Given the description of an element on the screen output the (x, y) to click on. 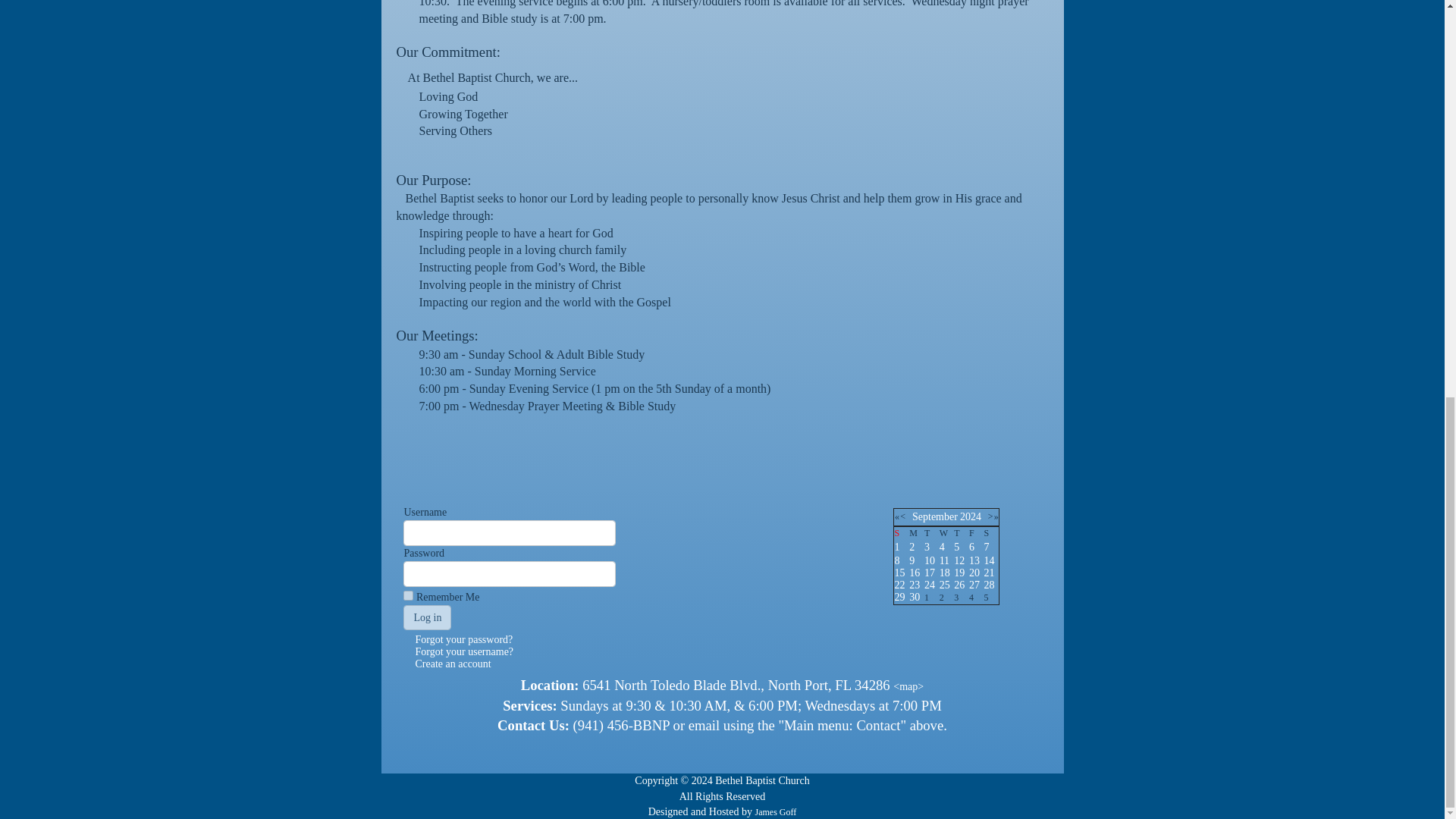
12 (958, 560)
10 (929, 560)
Log in (427, 617)
14 (989, 560)
15 (898, 572)
Forgot your username? (463, 651)
Go to calendar - current day (929, 560)
yes (408, 595)
Create an account (452, 663)
Go to calendar - current day (958, 560)
